Given the description of an element on the screen output the (x, y) to click on. 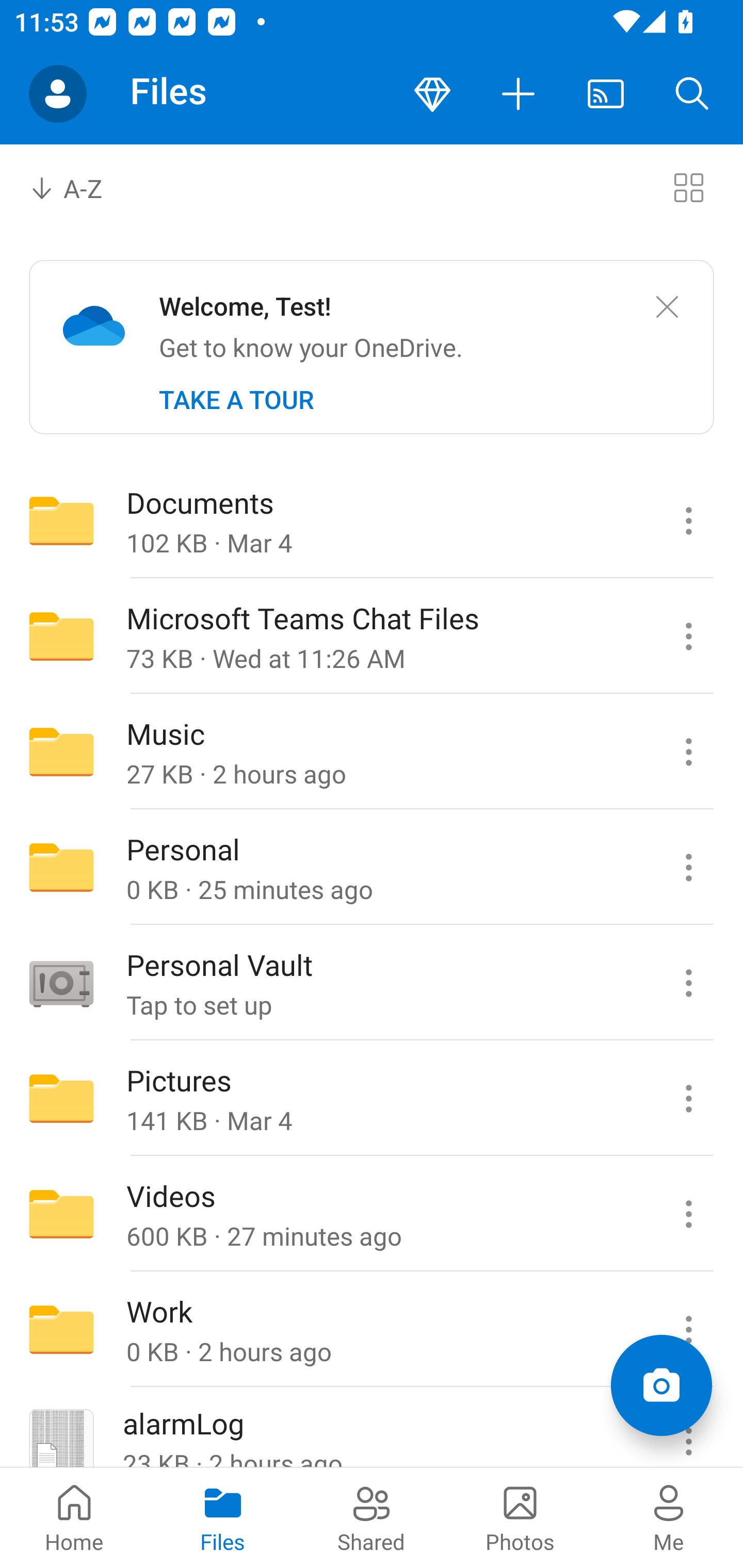
Account switcher (57, 93)
Cast. Disconnected (605, 93)
Premium button (432, 93)
More actions button (518, 93)
Search button (692, 93)
A-Z Sort by combo box, sort by name, A to Z (80, 187)
Switch to tiles view (688, 187)
Close (667, 307)
TAKE A TOUR (236, 399)
Folder Documents 102 KB · Mar 4 Documents commands (371, 520)
Documents commands (688, 520)
Microsoft Teams Chat Files commands (688, 636)
Folder Music 27 KB · 2 hours ago Music commands (371, 751)
Music commands (688, 751)
Personal commands (688, 867)
Personal Vault commands (688, 983)
Folder Pictures 141 KB · Mar 4 Pictures commands (371, 1099)
Pictures commands (688, 1099)
Videos commands (688, 1214)
Folder Work 0 KB · 2 hours ago Work commands (371, 1329)
Work commands (688, 1329)
Add items Scan (660, 1385)
alarmLog commands (688, 1427)
Home pivot Home (74, 1517)
Shared pivot Shared (371, 1517)
Photos pivot Photos (519, 1517)
Me pivot Me (668, 1517)
